Given the description of an element on the screen output the (x, y) to click on. 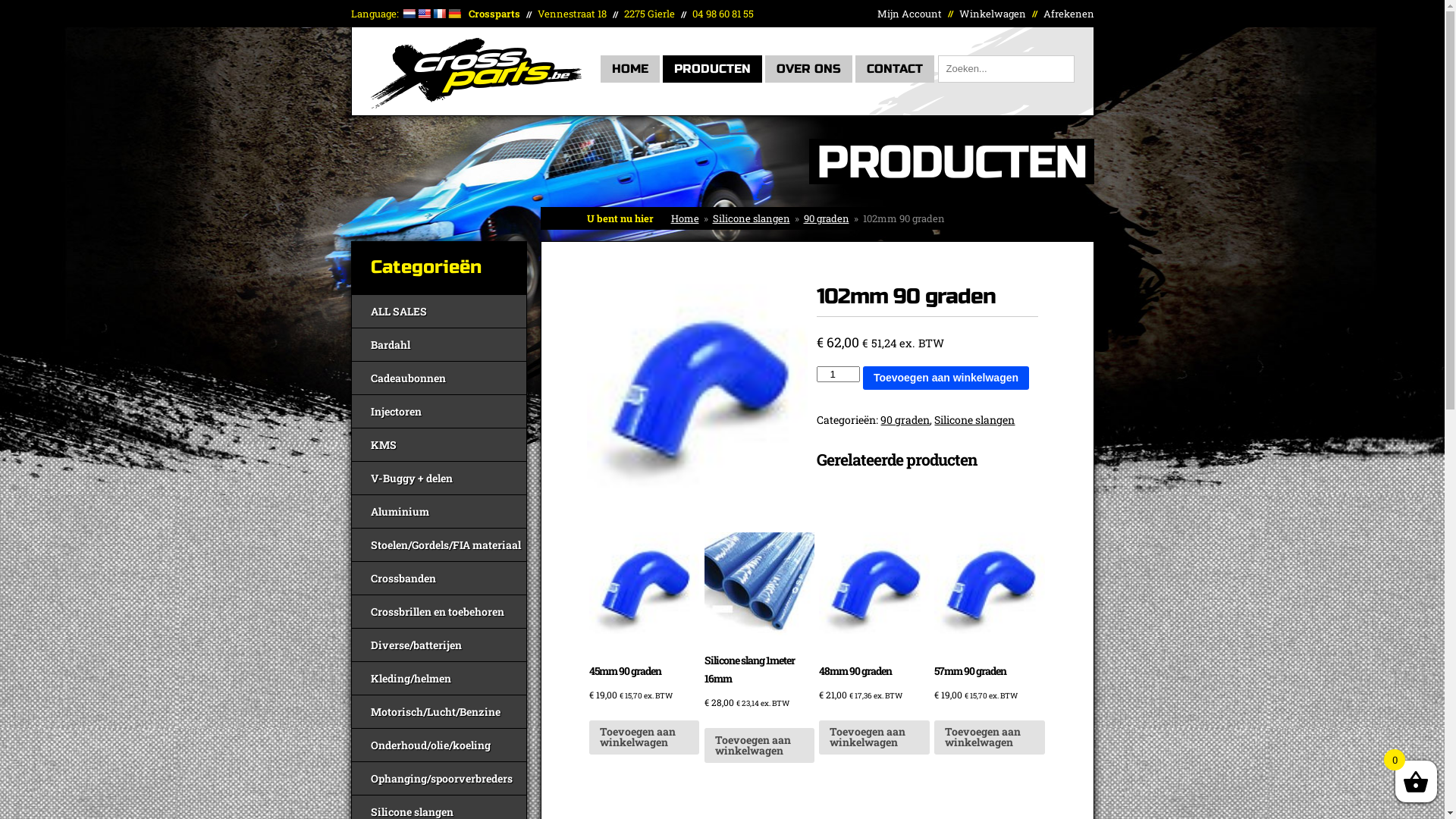
Motorisch/Lucht/Benzine Element type: text (438, 711)
Injectoren Element type: text (438, 410)
V-Buggy + delen Element type: text (438, 477)
Dutch Element type: hover (408, 13)
Ophanging/spoorverbreders Element type: text (438, 777)
Toevoegen aan winkelwagen Element type: text (758, 745)
Crossparts Element type: hover (475, 72)
Toevoegen aan winkelwagen Element type: text (644, 737)
PRODUCTEN Element type: text (712, 68)
Crossparts Element type: hover (475, 104)
Winkelwagen Element type: text (991, 13)
Diverse/batterijen Element type: text (438, 644)
90 graden Element type: hover (697, 397)
Kleding/helmen Element type: text (438, 677)
Cadeaubonnen Element type: text (438, 377)
Bardahl Element type: text (438, 343)
Aantal Element type: hover (837, 373)
KMS Element type: text (438, 444)
Stoelen/Gordels/FIA materiaal Element type: text (438, 544)
Silicone slangen Element type: text (751, 218)
French Element type: hover (438, 13)
Crossbanden Element type: text (438, 577)
90 graden Element type: text (826, 218)
Toevoegen aan winkelwagen Element type: text (945, 377)
Toevoegen aan winkelwagen Element type: text (989, 737)
90 graden Element type: text (904, 419)
Silicone slangen Element type: text (974, 419)
Crossbrillen en toebehoren Element type: text (438, 610)
Afrekenen Element type: text (1068, 13)
CONTACT Element type: text (894, 68)
HOME Element type: text (629, 68)
Onderhoud/olie/koeling Element type: text (438, 744)
English Element type: hover (423, 13)
Toevoegen aan winkelwagen Element type: text (874, 737)
Mijn Account Element type: text (908, 13)
Aluminium Element type: text (438, 510)
German Element type: hover (454, 13)
Home Element type: text (684, 218)
OVER ONS Element type: text (807, 68)
ALL SALES Element type: text (438, 310)
